Given the description of an element on the screen output the (x, y) to click on. 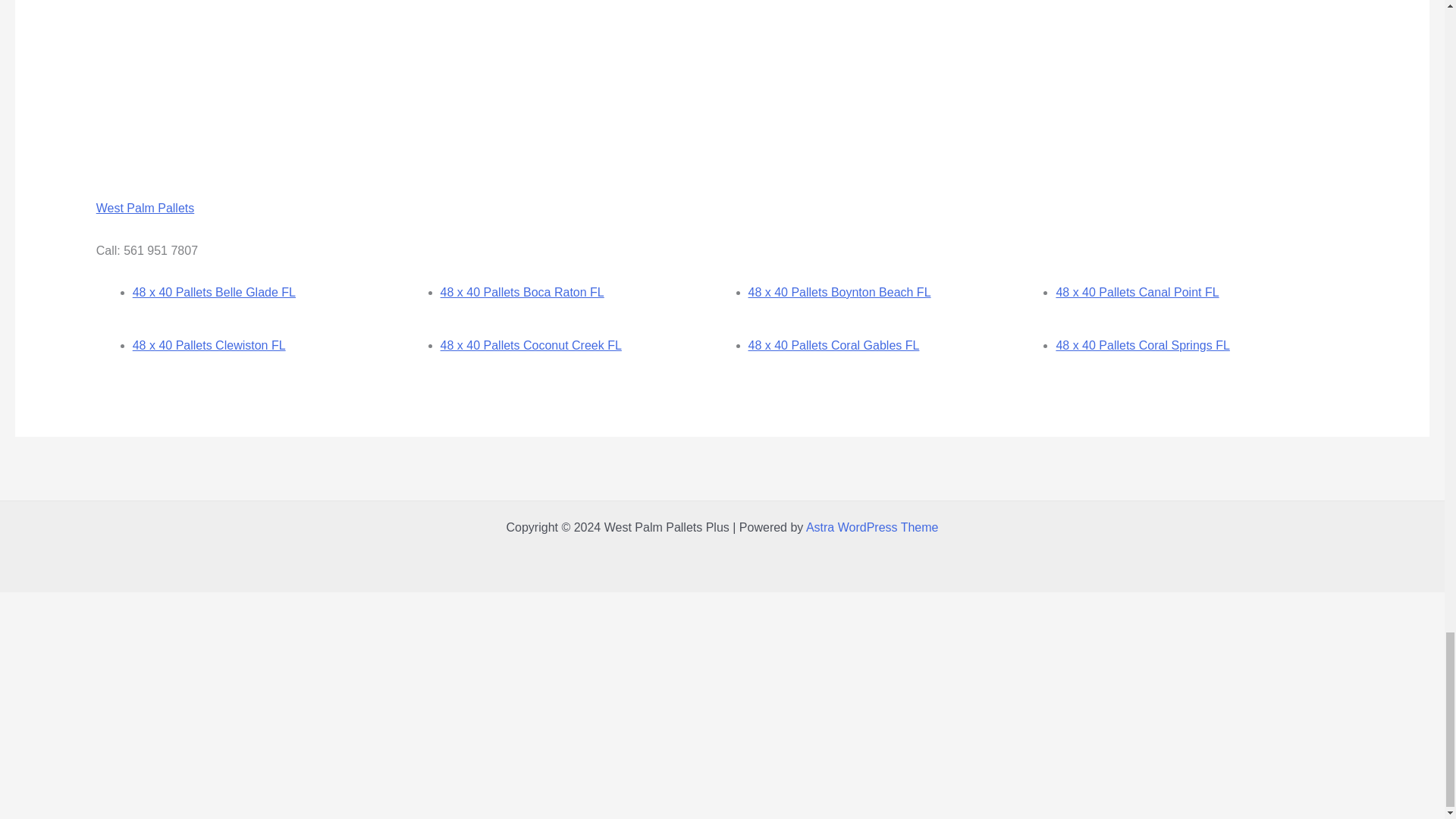
48 x 40 Pallets Coral Gables FL (833, 345)
48 x 40 Pallets Coconut Creek FL (531, 345)
48 x 40 Pallets Boynton Beach FL (839, 291)
48 x 40 Pallets Coral Springs FL (1141, 345)
48 x 40 Pallets Belle Glade FL (213, 291)
48 x 40 Pallets Boca Raton FL (522, 291)
48 x 40 Pallets Canal Point FL (1136, 291)
48 x 40 Pallets Clewiston FL (208, 345)
